Given the description of an element on the screen output the (x, y) to click on. 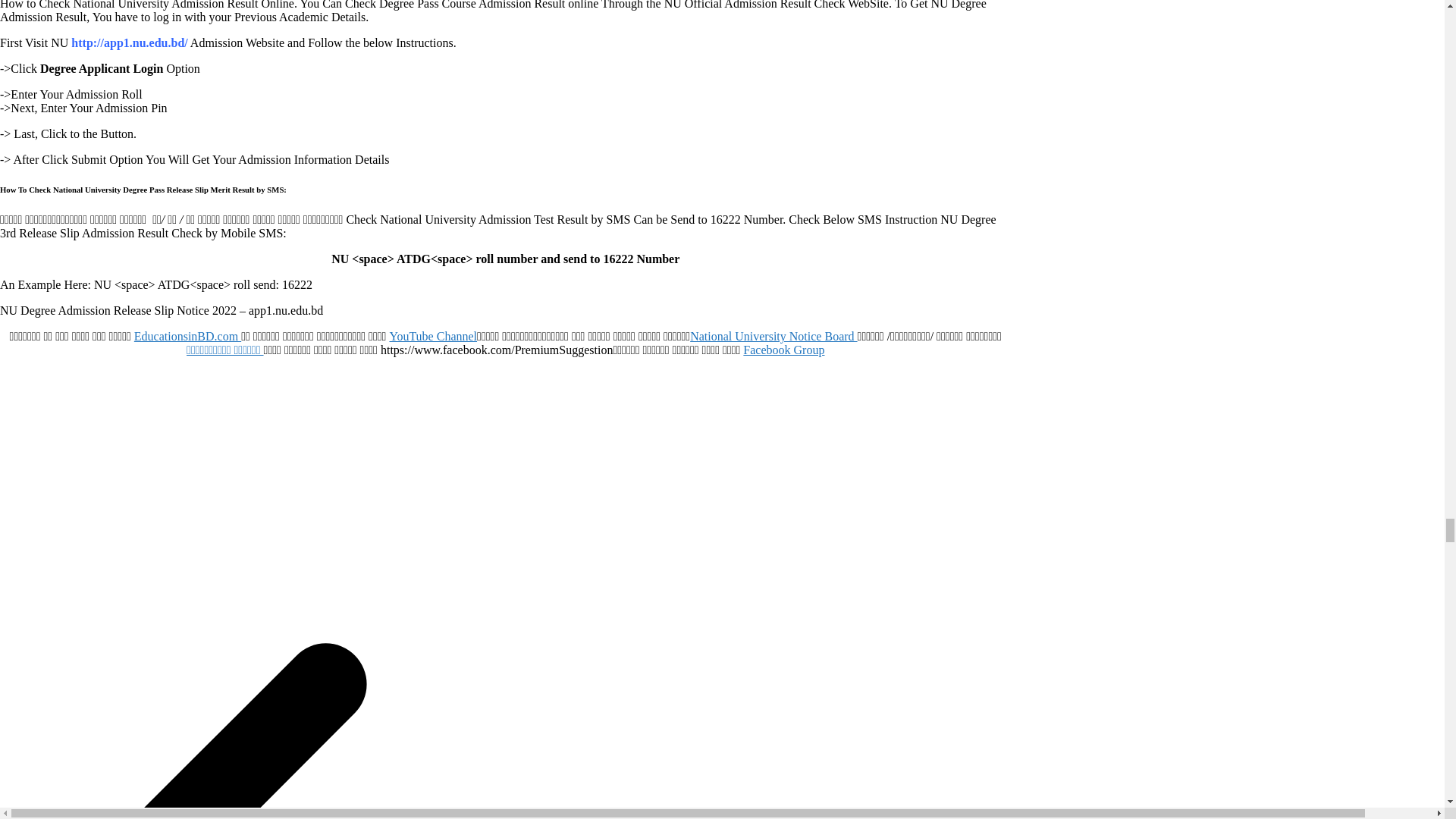
YouTube Channel (432, 336)
National University Notice Board (773, 336)
Facebook Group (783, 349)
EducationsinBD.com (187, 336)
